Given the description of an element on the screen output the (x, y) to click on. 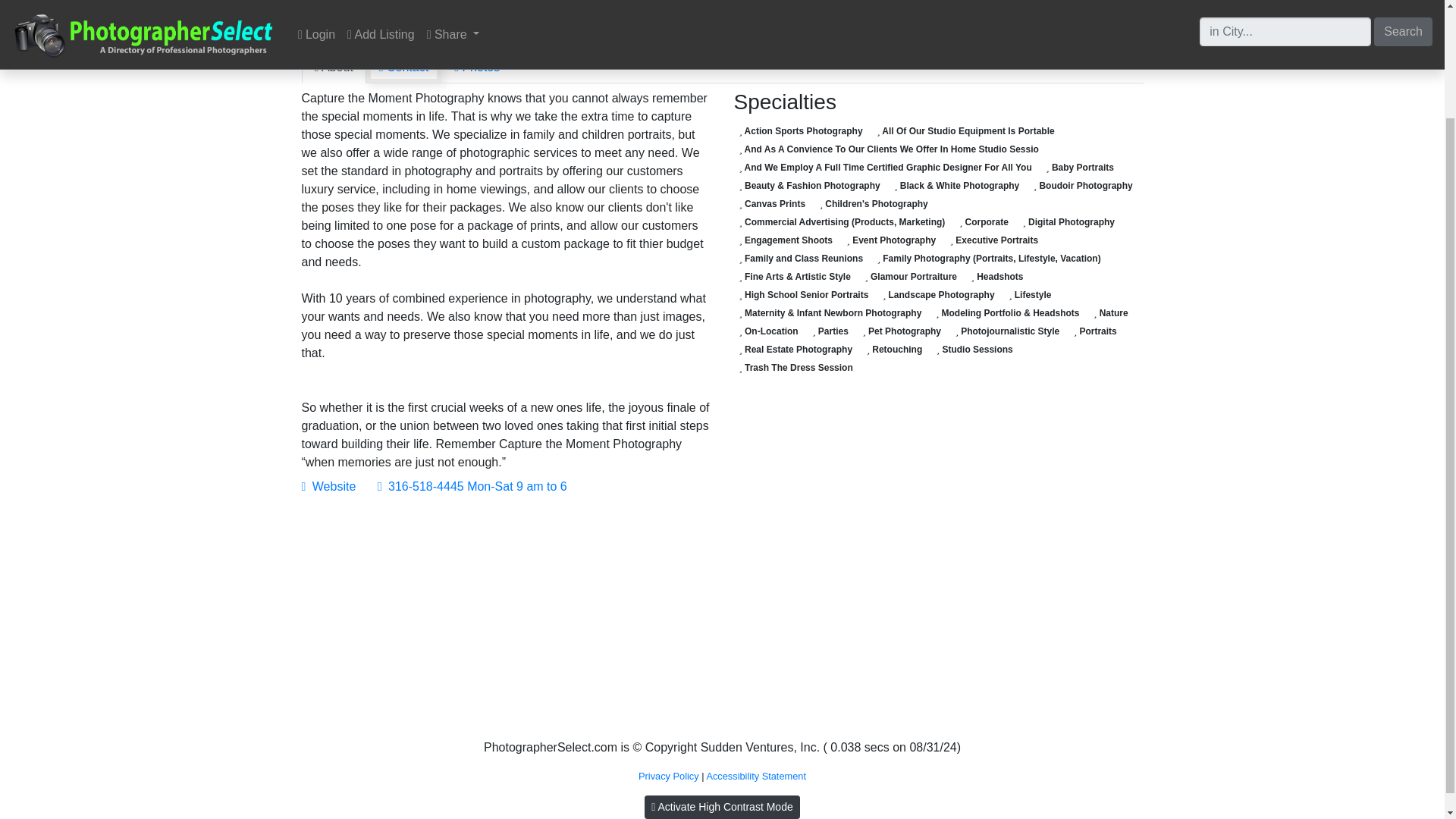
Contact (403, 67)
316-518-4445 Mon-Sat 9 am to 6 (472, 486)
About (333, 67)
Photos (476, 67)
Website (328, 486)
Privacy Policy (668, 776)
Accessibility Statement (756, 776)
Advertisement (506, 620)
